Given the description of an element on the screen output the (x, y) to click on. 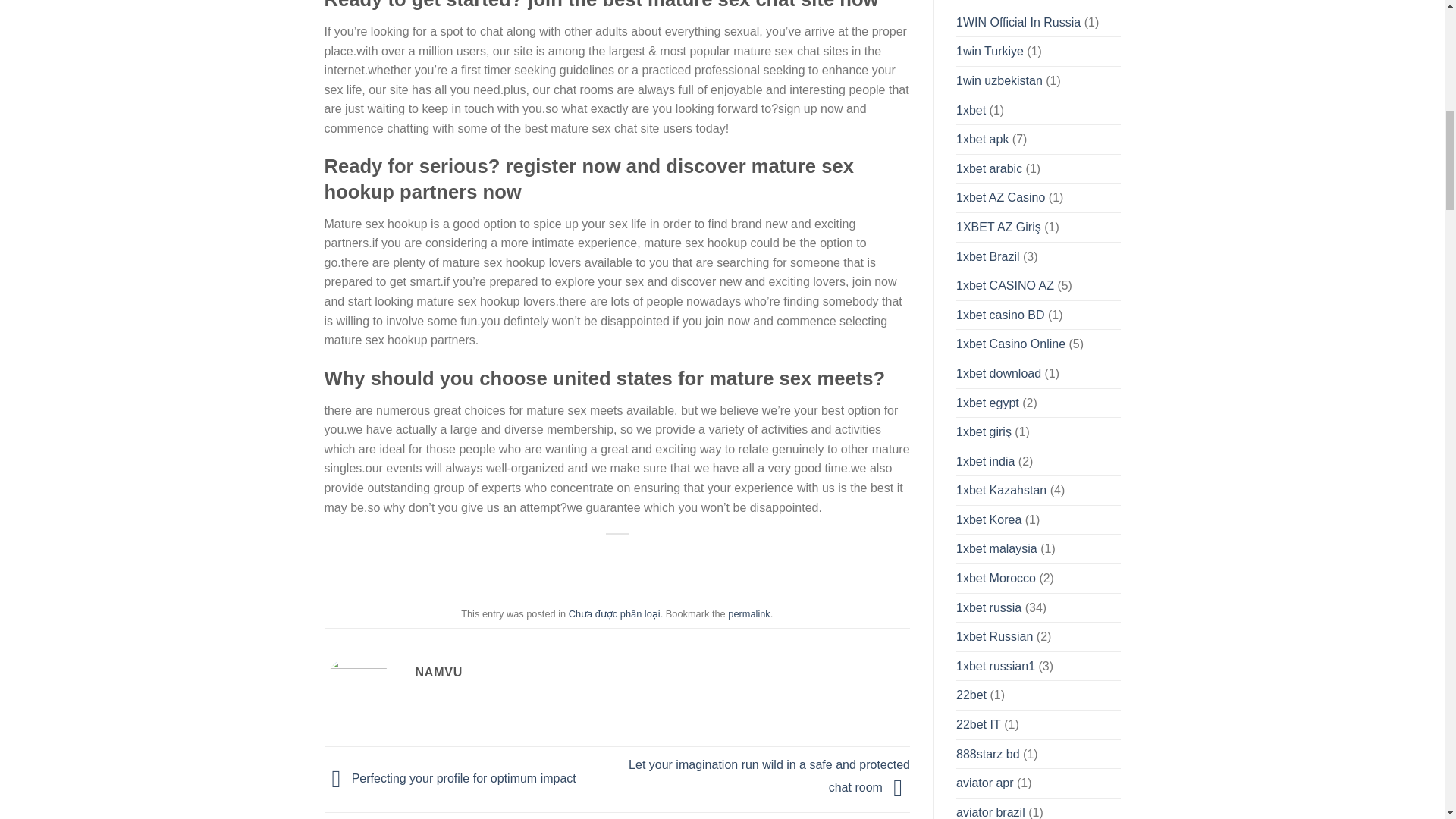
Share on Facebook (489, 559)
Pin on Pinterest (681, 559)
Share on Twitter (553, 559)
Email to a Friend (617, 559)
Share on LinkedIn (745, 559)
